Given the description of an element on the screen output the (x, y) to click on. 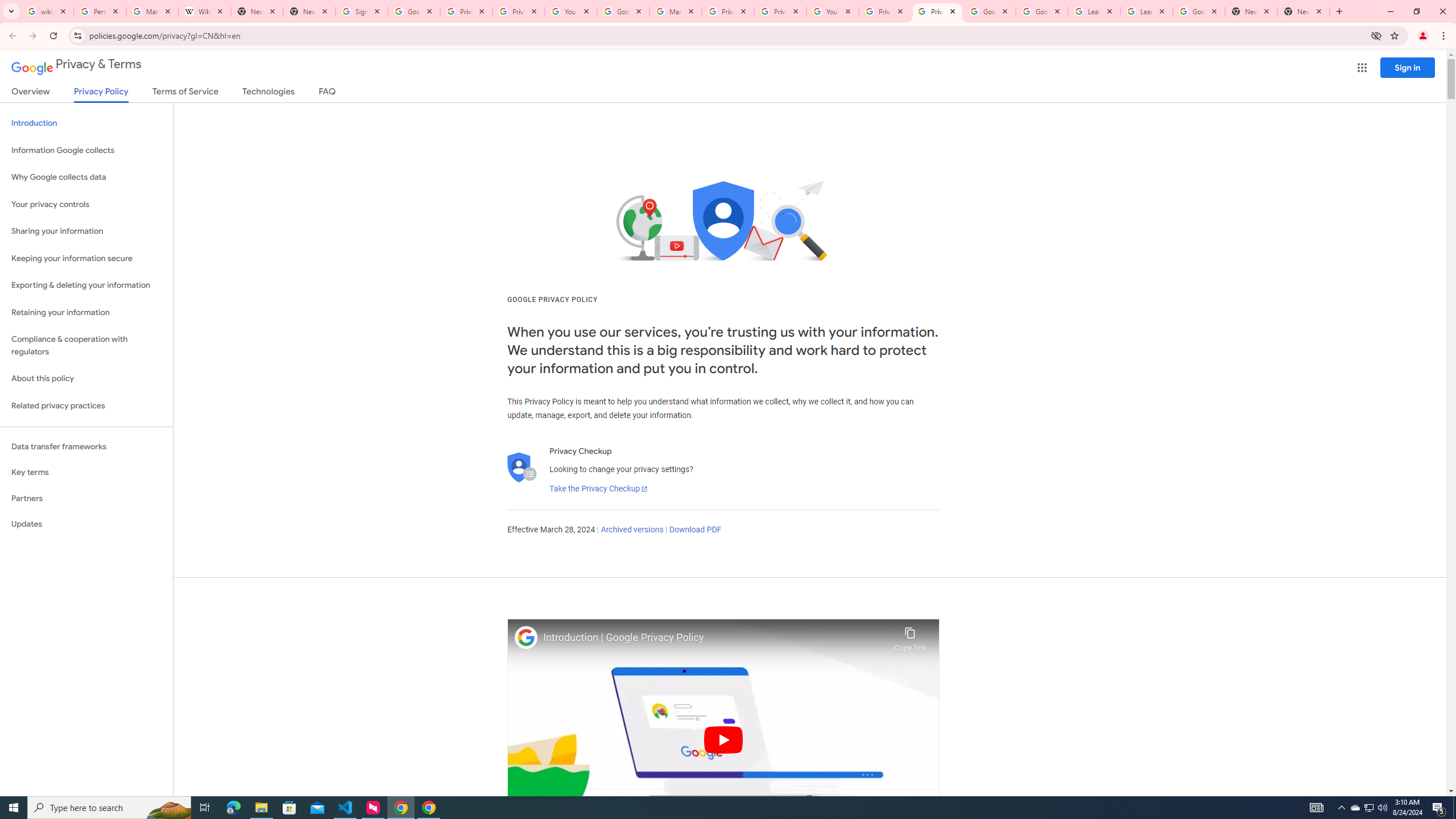
New Tab (309, 11)
Sign in - Google Accounts (361, 11)
Manage your Location History - Google Search Help (151, 11)
Google Account Help (623, 11)
Photo image of Google (526, 636)
